Given the description of an element on the screen output the (x, y) to click on. 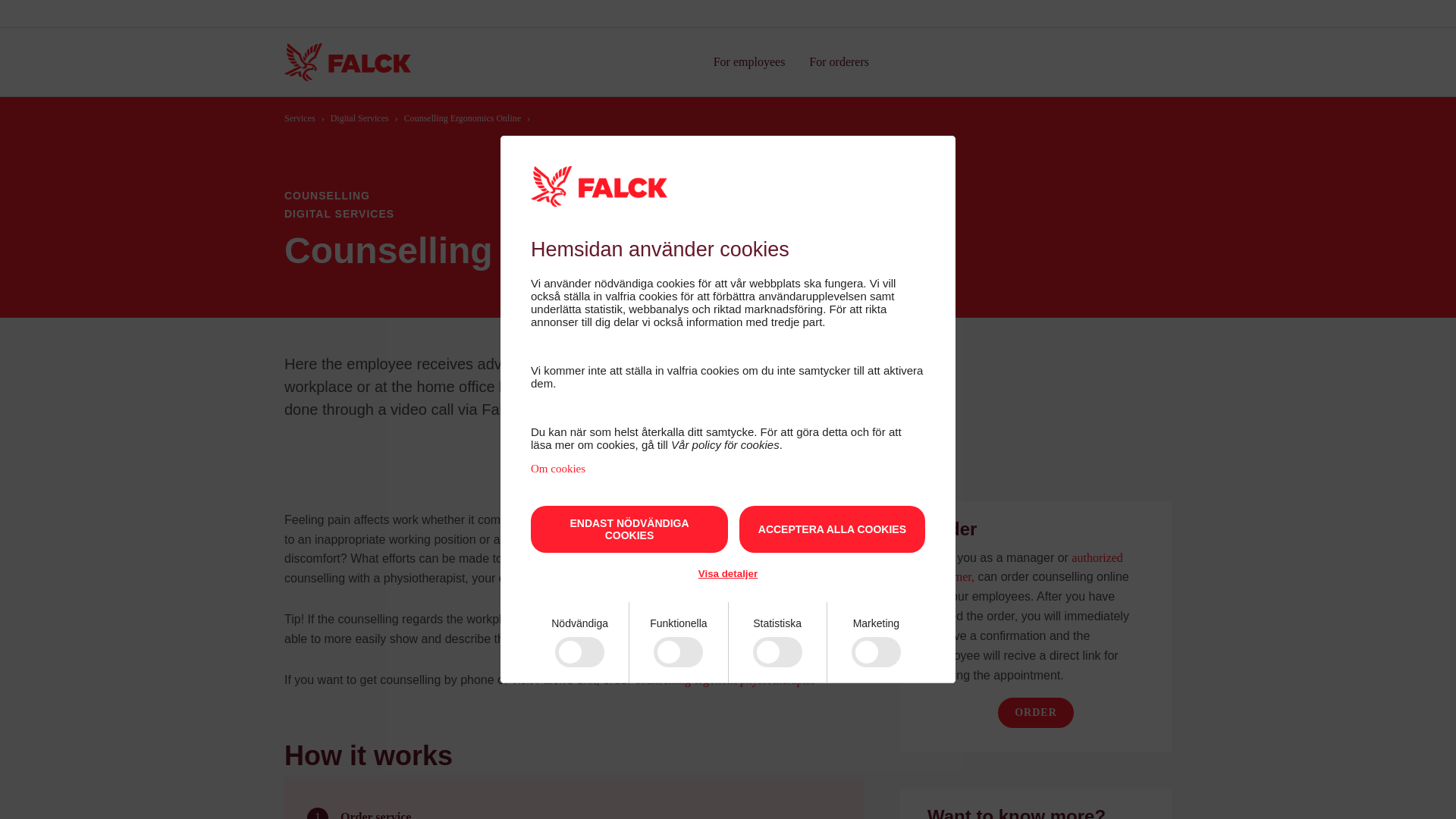
ACCEPTERA ALLA COOKIES (831, 529)
Visa detaljer (727, 573)
Om cookies (558, 468)
